Given the description of an element on the screen output the (x, y) to click on. 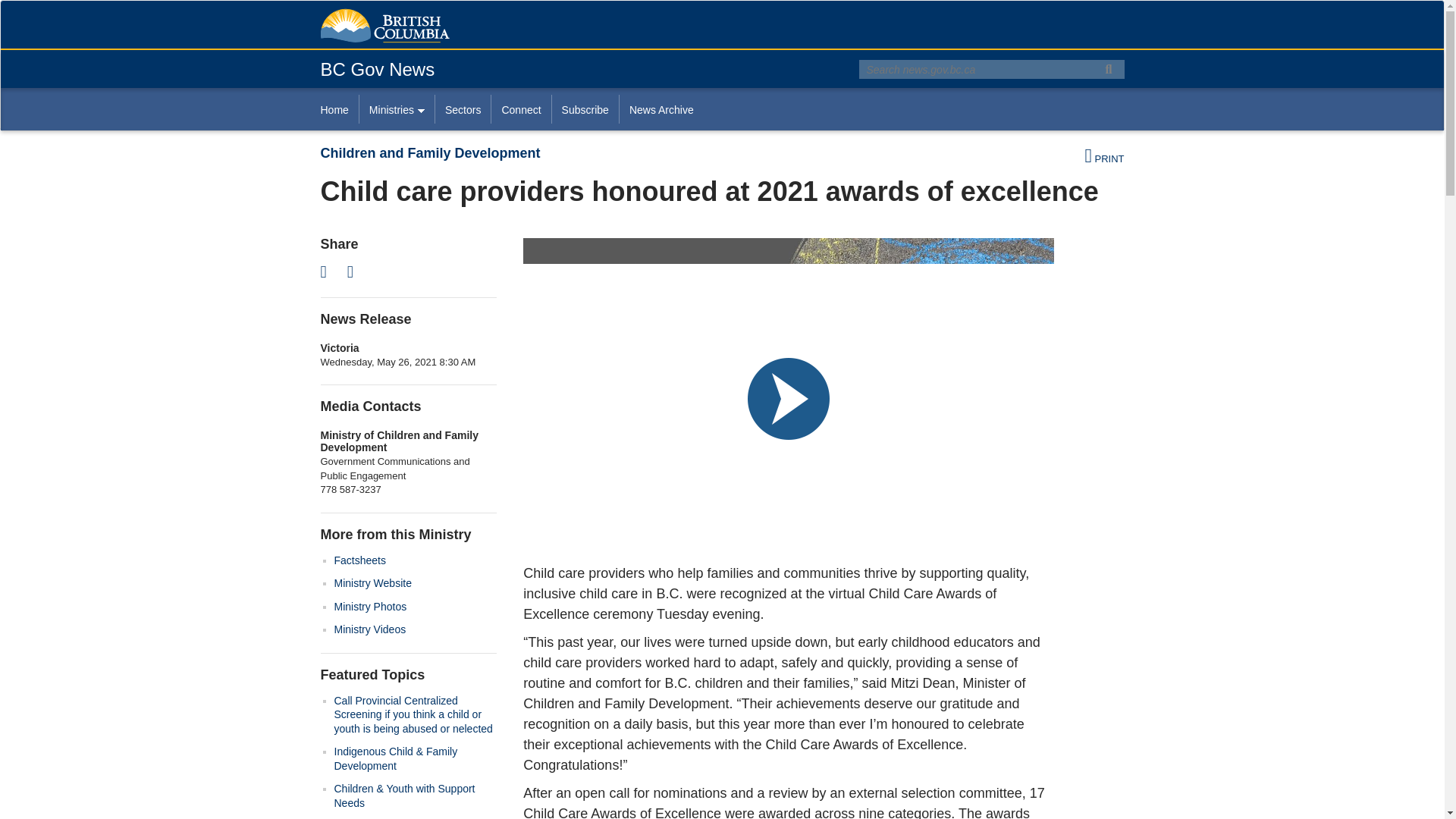
Connect (520, 109)
BC Gov News (376, 68)
News Archive (660, 109)
Ministries (395, 109)
Government of B.C. (384, 25)
Subscribe (584, 109)
Sectors (461, 109)
Home (339, 109)
